Given the description of an element on the screen output the (x, y) to click on. 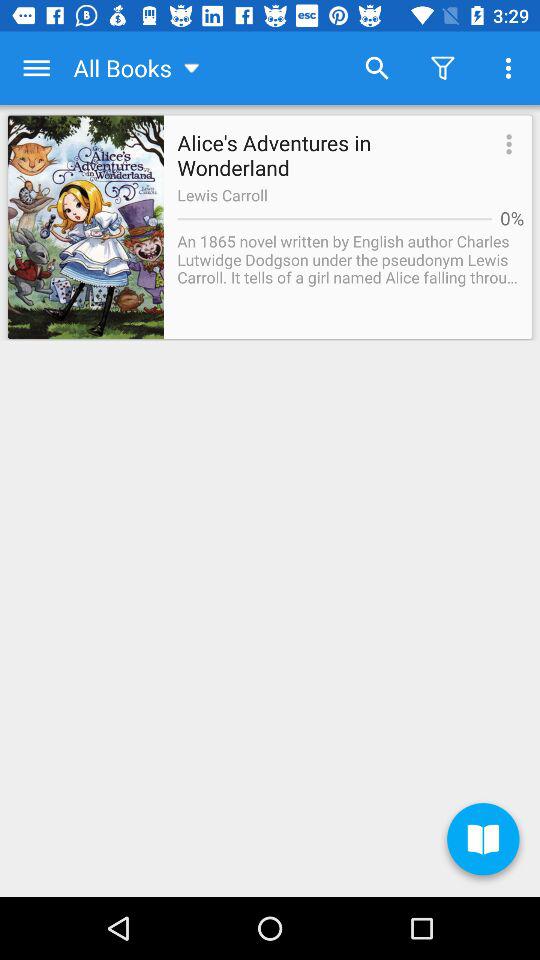
swipe until all books (137, 67)
